Given the description of an element on the screen output the (x, y) to click on. 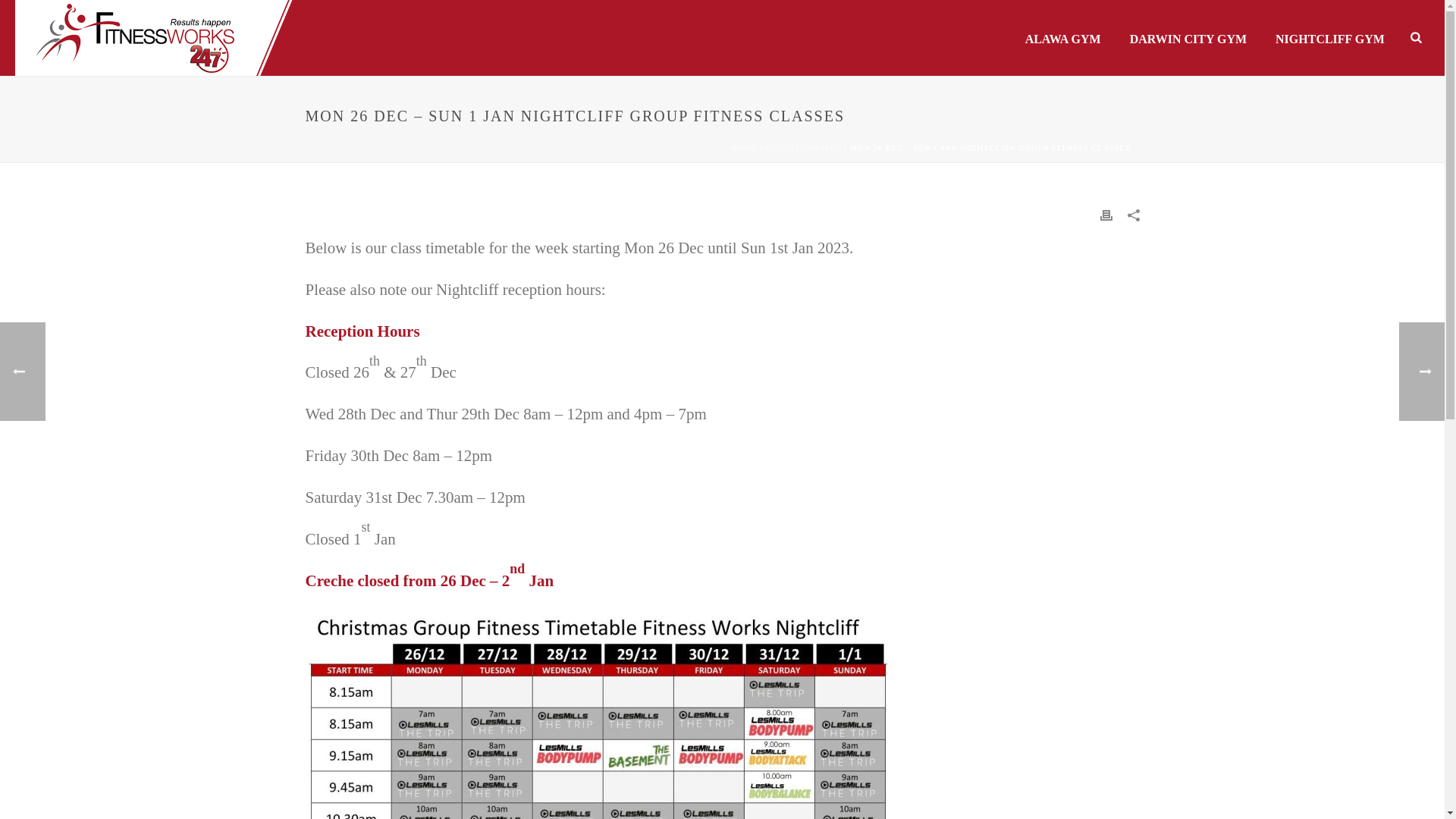
DARWIN CITY GYM (1187, 38)
HOME (743, 148)
DARWIN CITY GYM (1187, 38)
ALAWA GYM (1062, 38)
NIGHTCLIFF GYM (1329, 38)
UNCATEGORISED (803, 148)
ALAWA GYM (1062, 38)
NIGHTCLIFF GYM (1329, 38)
Darwin Gyms and Personal Training (156, 38)
